Given the description of an element on the screen output the (x, y) to click on. 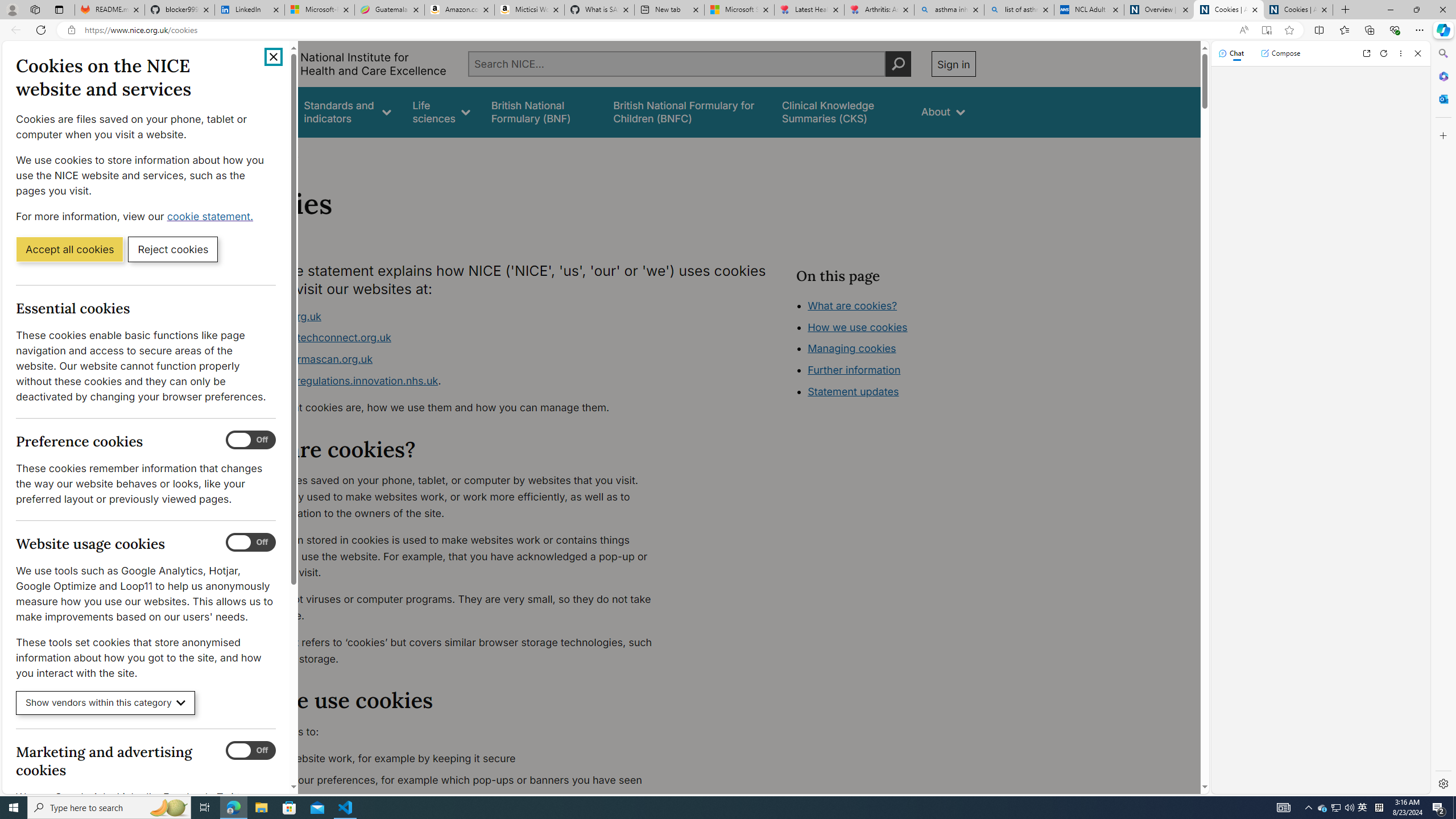
make our website work, for example by keeping it secure (452, 759)
Accept all cookies (69, 248)
Marketing and advertising cookies (250, 750)
www.healthtechconnect.org.uk (314, 337)
cookie statement. (Opens in a new window) (211, 215)
What are cookies? (852, 305)
How we use cookies (896, 389)
